Given the description of an element on the screen output the (x, y) to click on. 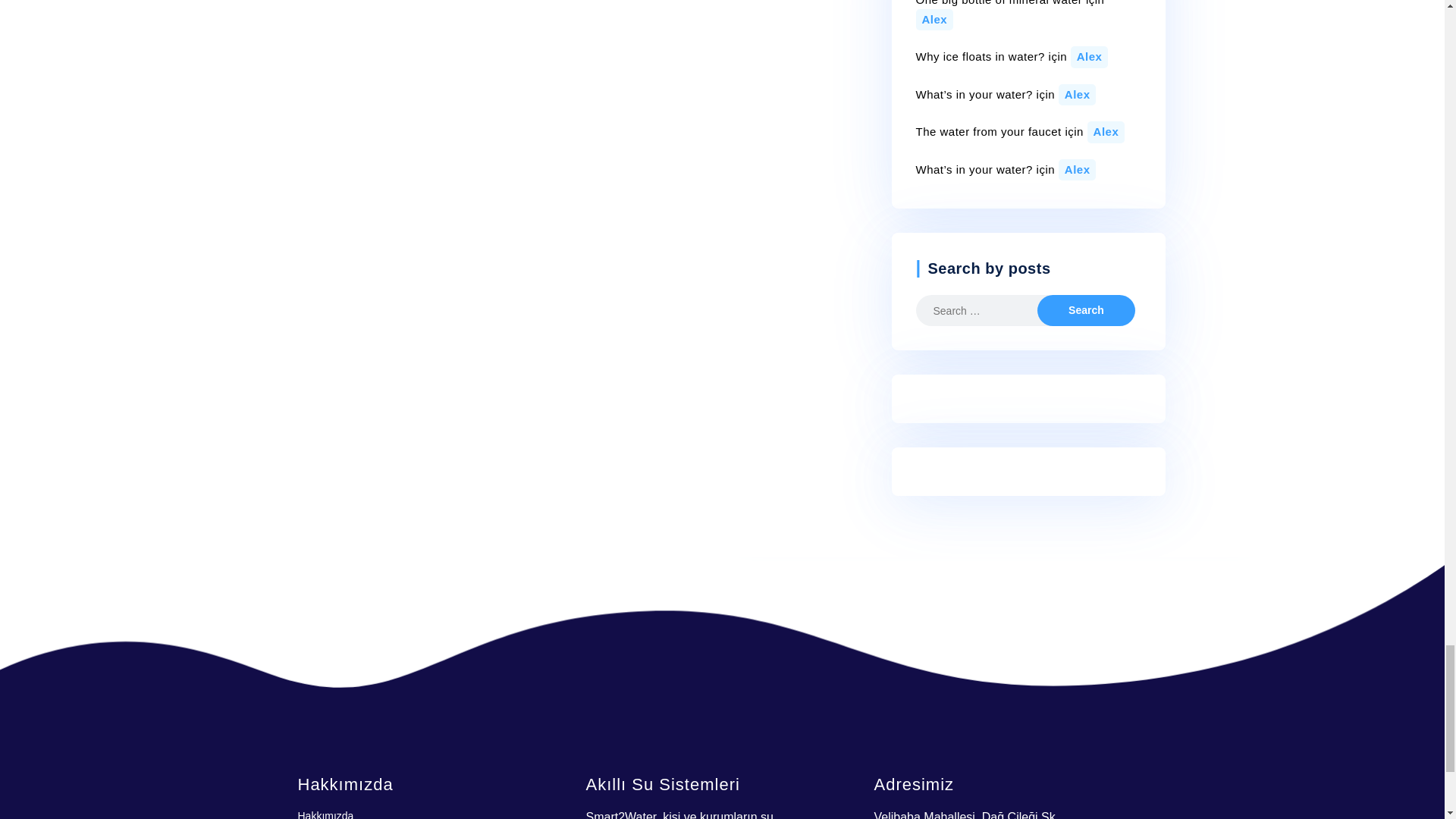
Search (1085, 309)
Search for: (988, 309)
Search (1085, 309)
